Given the description of an element on the screen output the (x, y) to click on. 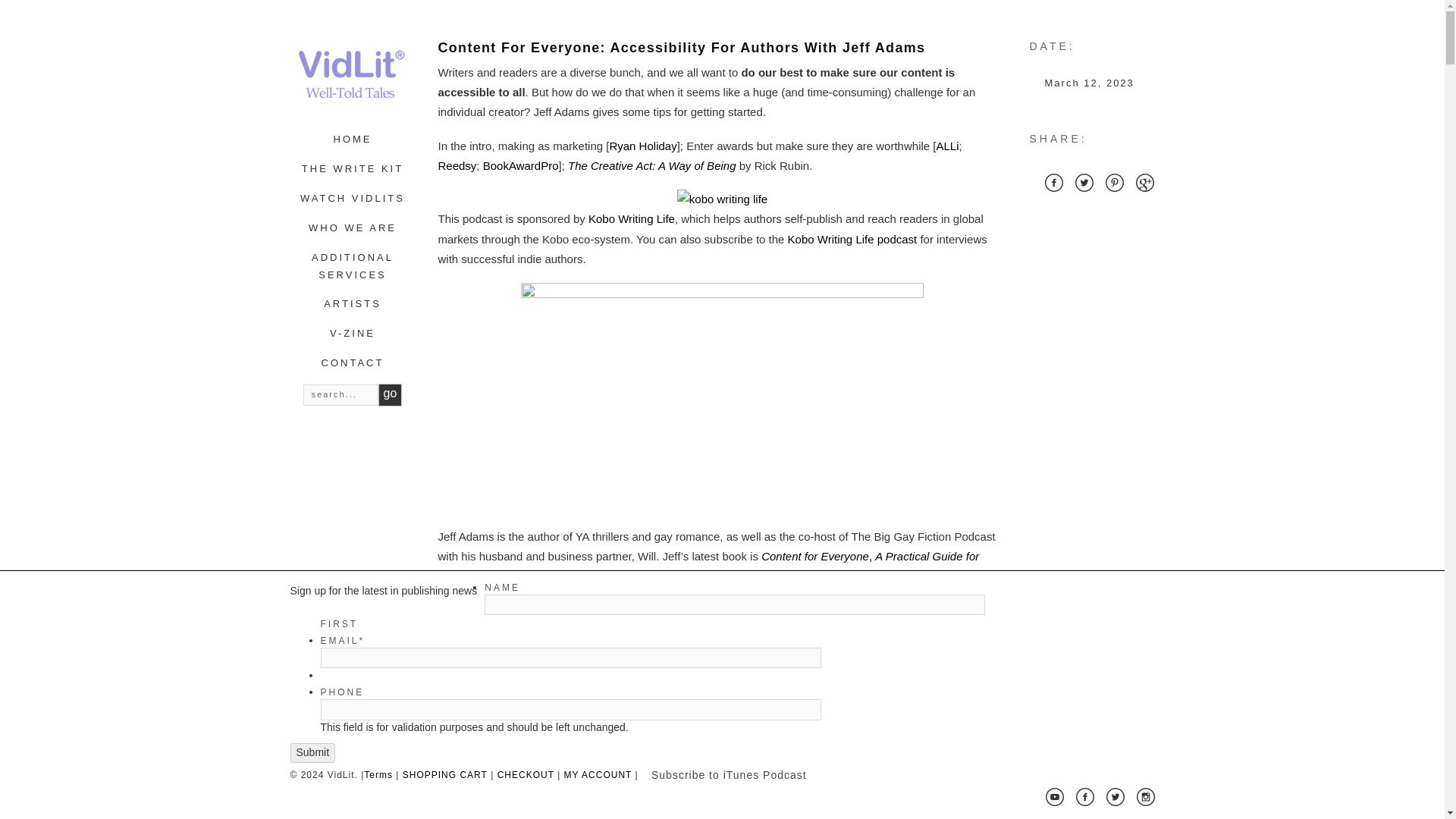
THE WRITE KIT (352, 168)
Kobo Writing Life podcast (852, 238)
ADDITIONAL SERVICES (352, 265)
HOME (352, 138)
The Creative Act: A Way of Being (651, 164)
Ryan Holiday (642, 145)
BookAwardPro (521, 164)
go (390, 395)
go (390, 395)
Reedsy (457, 164)
